Given the description of an element on the screen output the (x, y) to click on. 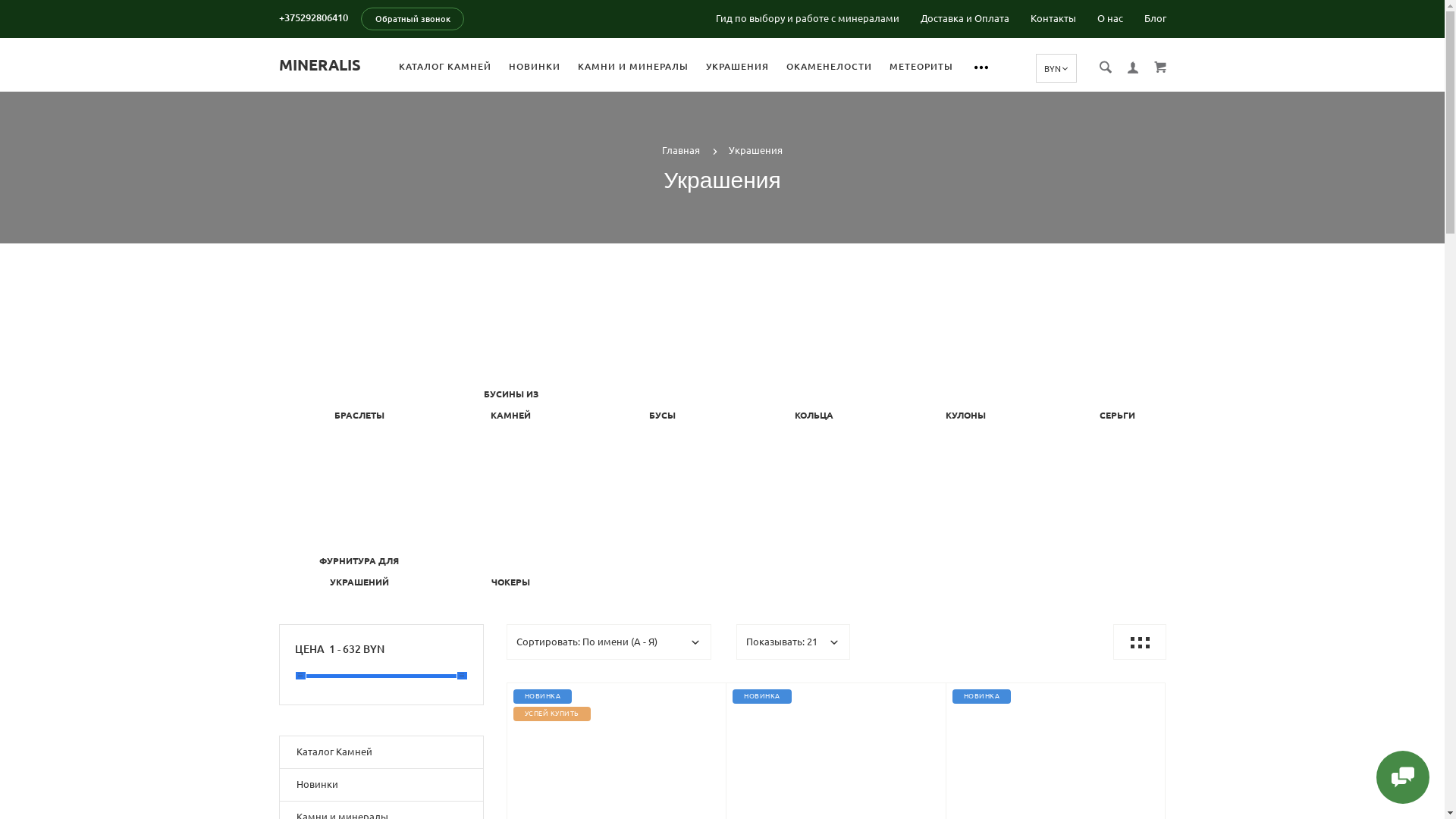
+375292806410 Element type: text (313, 17)
MINERALIS Element type: text (319, 64)
